Given the description of an element on the screen output the (x, y) to click on. 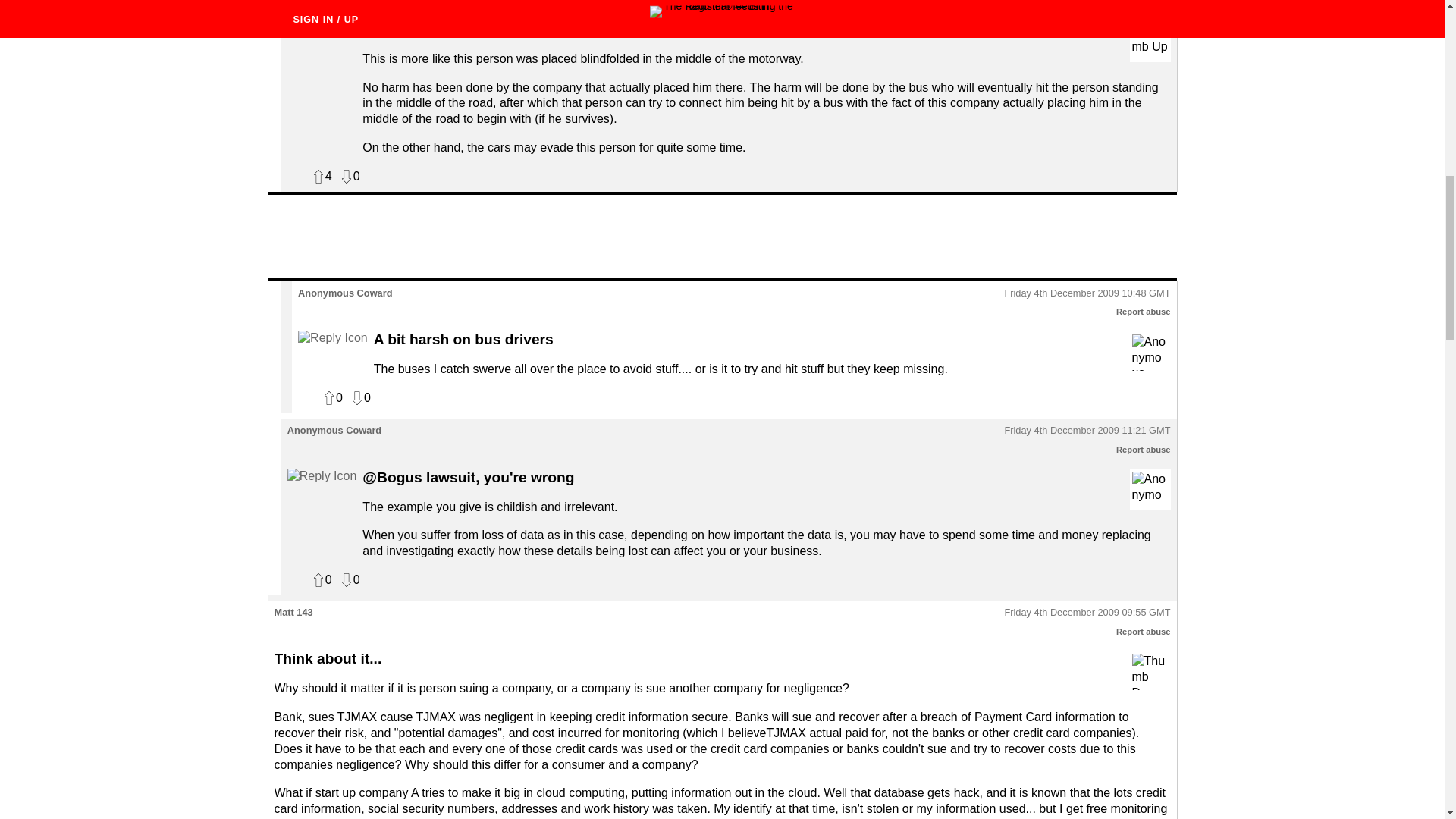
Inappropriate post? Report it to our moderators (1143, 2)
Report abuse (1143, 311)
Report abuse (1143, 631)
Report abuse (1143, 2)
Report abuse (1143, 449)
